Given the description of an element on the screen output the (x, y) to click on. 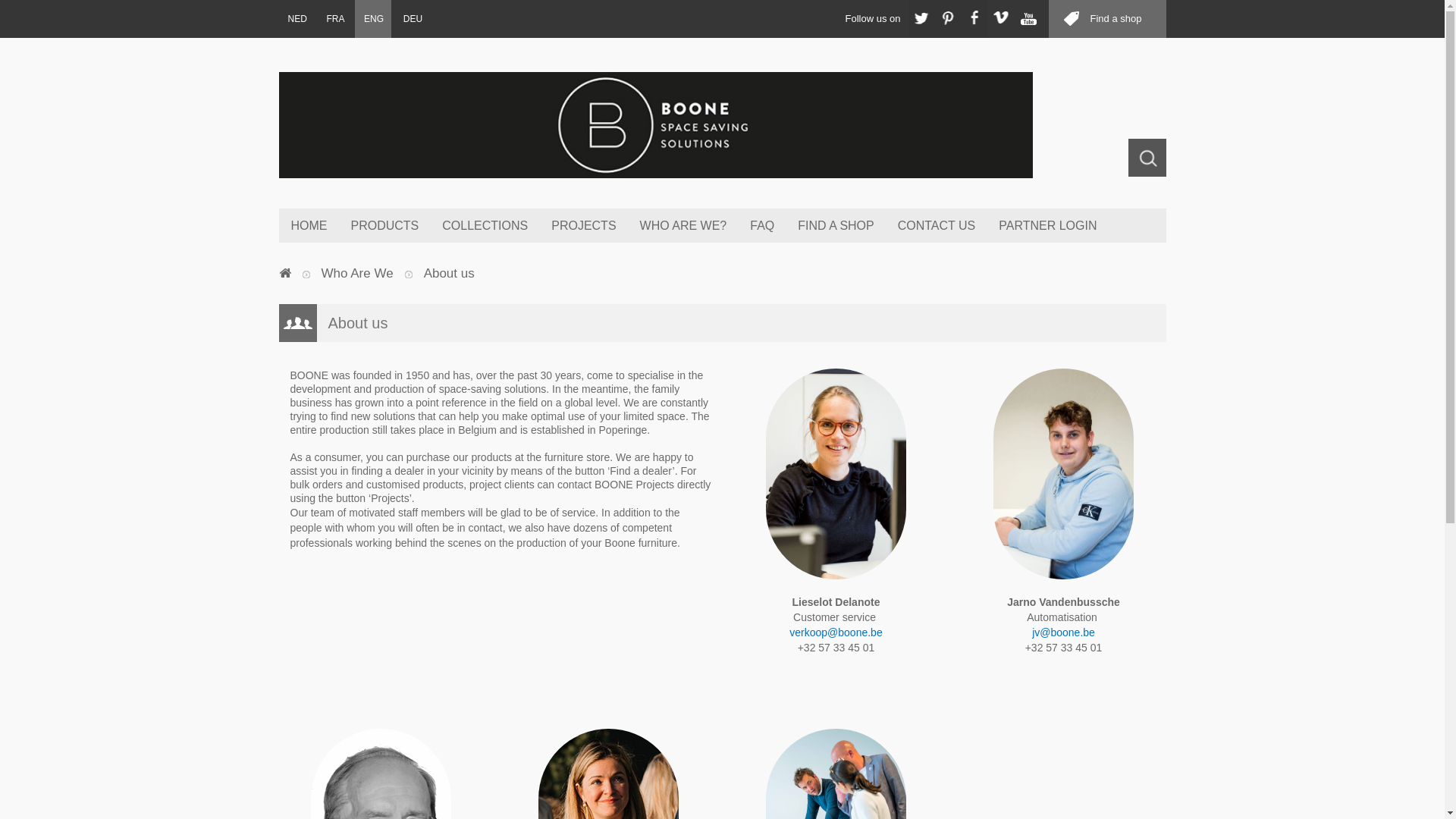
verkoop@boone.be Element type: text (835, 632)
DEU Element type: text (411, 18)
Boone Element type: hover (722, 125)
NED Element type: text (296, 18)
PROJECTS Element type: text (583, 225)
PARTNER LOGIN Element type: text (1046, 225)
CONTACT US Element type: text (936, 225)
FAQ Element type: text (761, 225)
jv@boone.be Element type: text (1063, 632)
COLLECTIONS Element type: text (484, 225)
Return to Home Element type: hover (285, 273)
WHO ARE WE? Element type: text (682, 225)
FIND A SHOP Element type: text (834, 225)
FRA Element type: text (333, 18)
Who Are We Element type: text (357, 273)
HOME Element type: text (308, 225)
PRODUCTS Element type: text (383, 225)
